Given the description of an element on the screen output the (x, y) to click on. 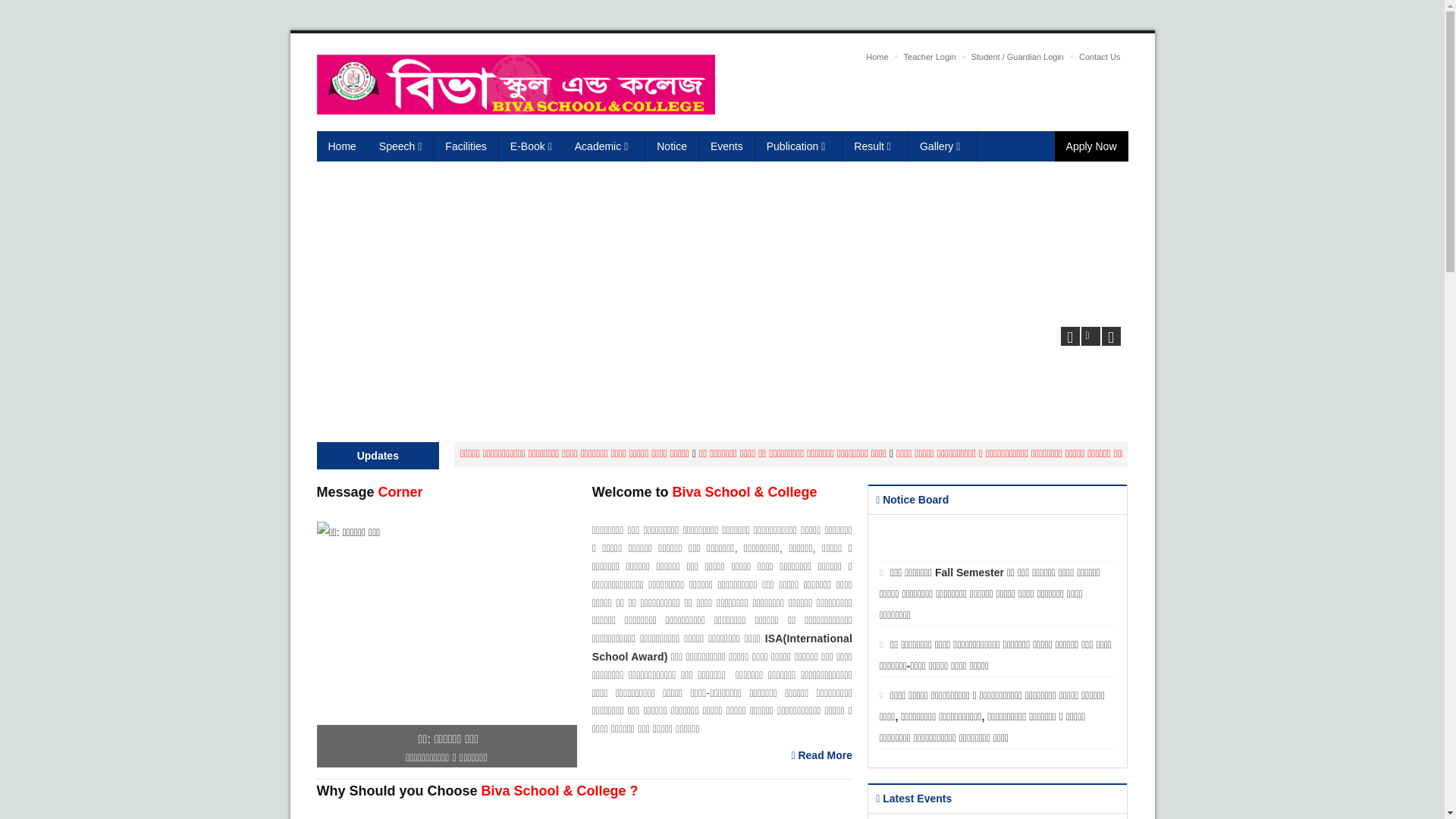
Academic Element type: text (604, 146)
Teacher Login Element type: text (929, 56)
Publication Element type: text (799, 146)
Gallery Element type: text (942, 146)
E-Book Element type: text (530, 146)
Facilities Element type: text (465, 146)
Home Element type: text (876, 56)
Read More Element type: text (821, 755)
Events Element type: text (727, 146)
Home Element type: text (341, 146)
Speech Element type: text (400, 146)
Notice Element type: text (672, 146)
Result Element type: text (875, 146)
Student / Guardian Login Element type: text (1017, 56)
Contact Us Element type: text (1099, 56)
Apply Now Element type: text (1091, 146)
